Given the description of an element on the screen output the (x, y) to click on. 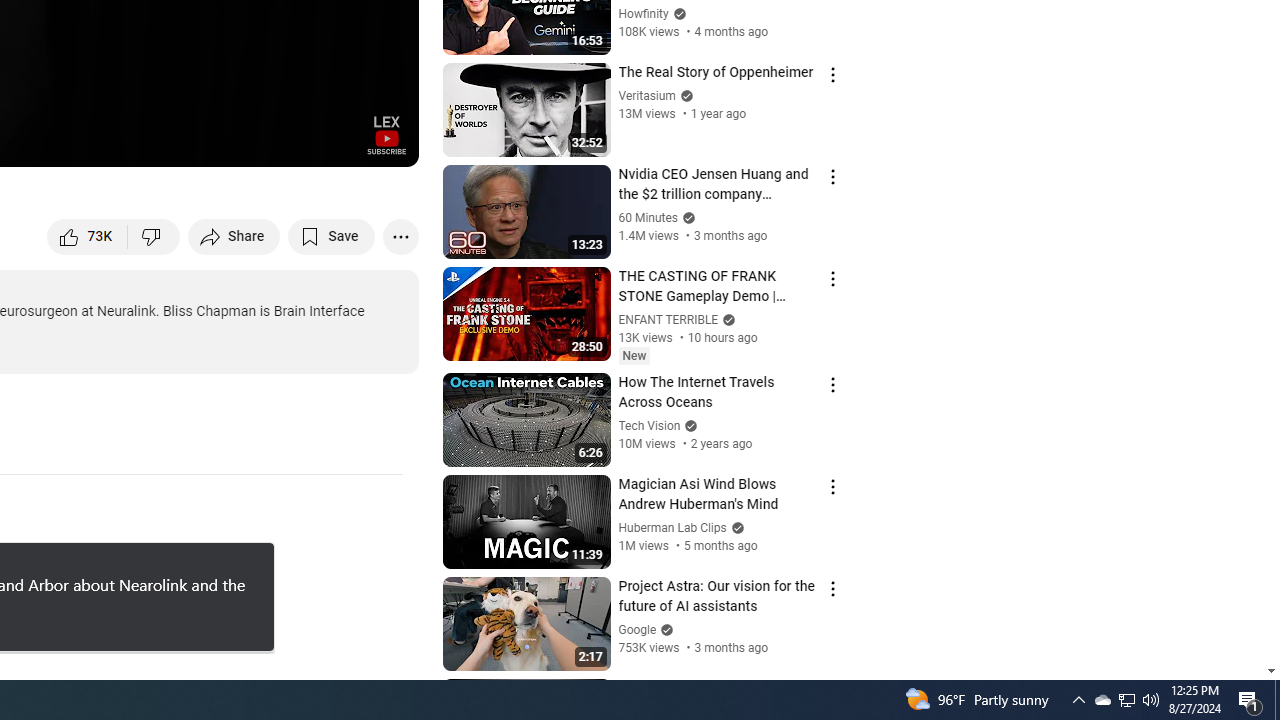
Autoplay is on (141, 142)
Miniplayer (i) (286, 142)
Dislike this video (154, 236)
Share (234, 236)
